Given the description of an element on the screen output the (x, y) to click on. 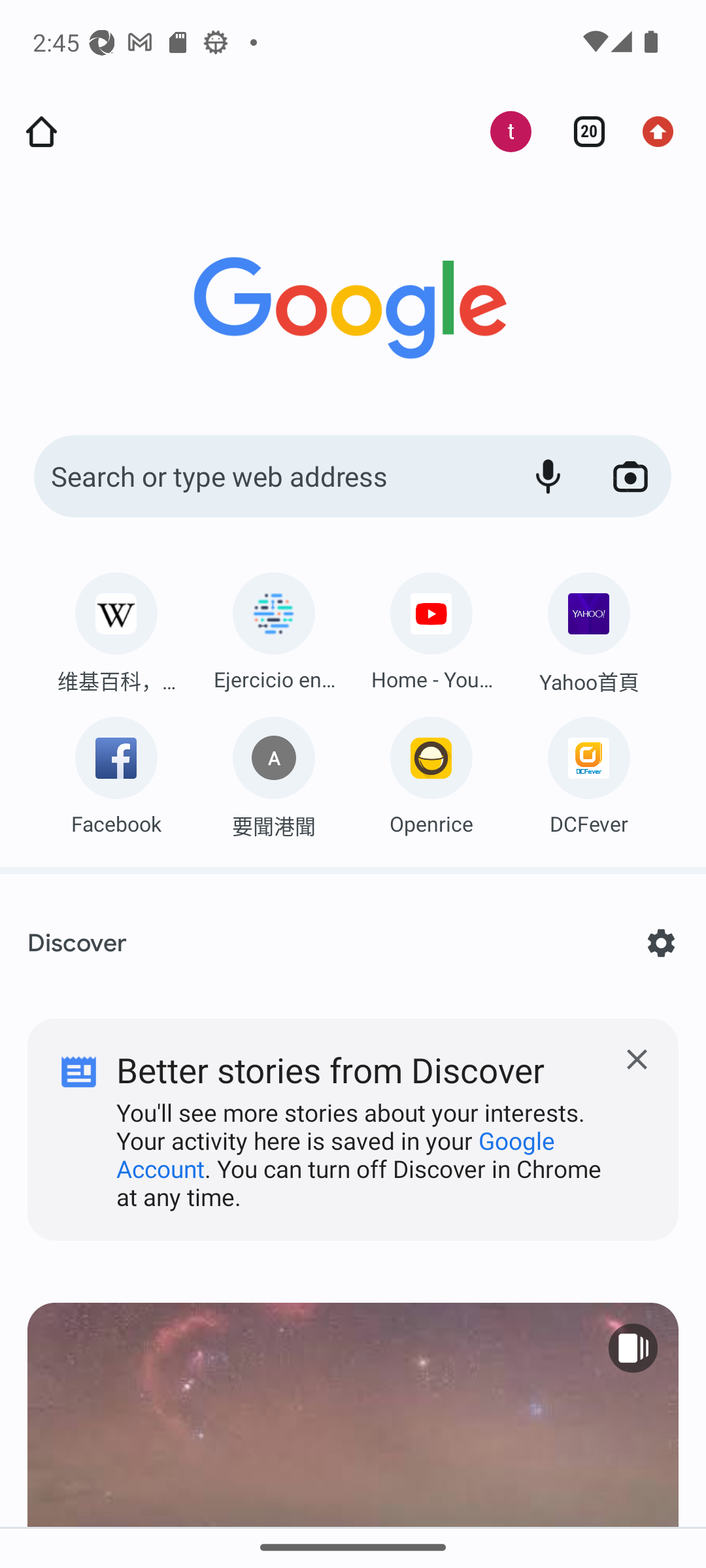
Home (41, 131)
Manage account (499, 131)
Switch or close tabs (582, 131)
Update available. More options (664, 131)
Search or type web address (267, 476)
Start voice search (547, 476)
Search with your camera using Google Lens (629, 476)
维基百科，自由的百科全书 (116, 627)
Ejercicio en lugares diferentes - Ada (273, 627)
Home - YouTube (430, 627)
Yahoo首頁 (588, 628)
Facebook (116, 771)
要聞港聞 (273, 771)
Openrice (430, 771)
DCFever (588, 771)
Options for Discover (660, 942)
Dismiss (353, 1115)
Dismiss (636, 1059)
